Given the description of an element on the screen output the (x, y) to click on. 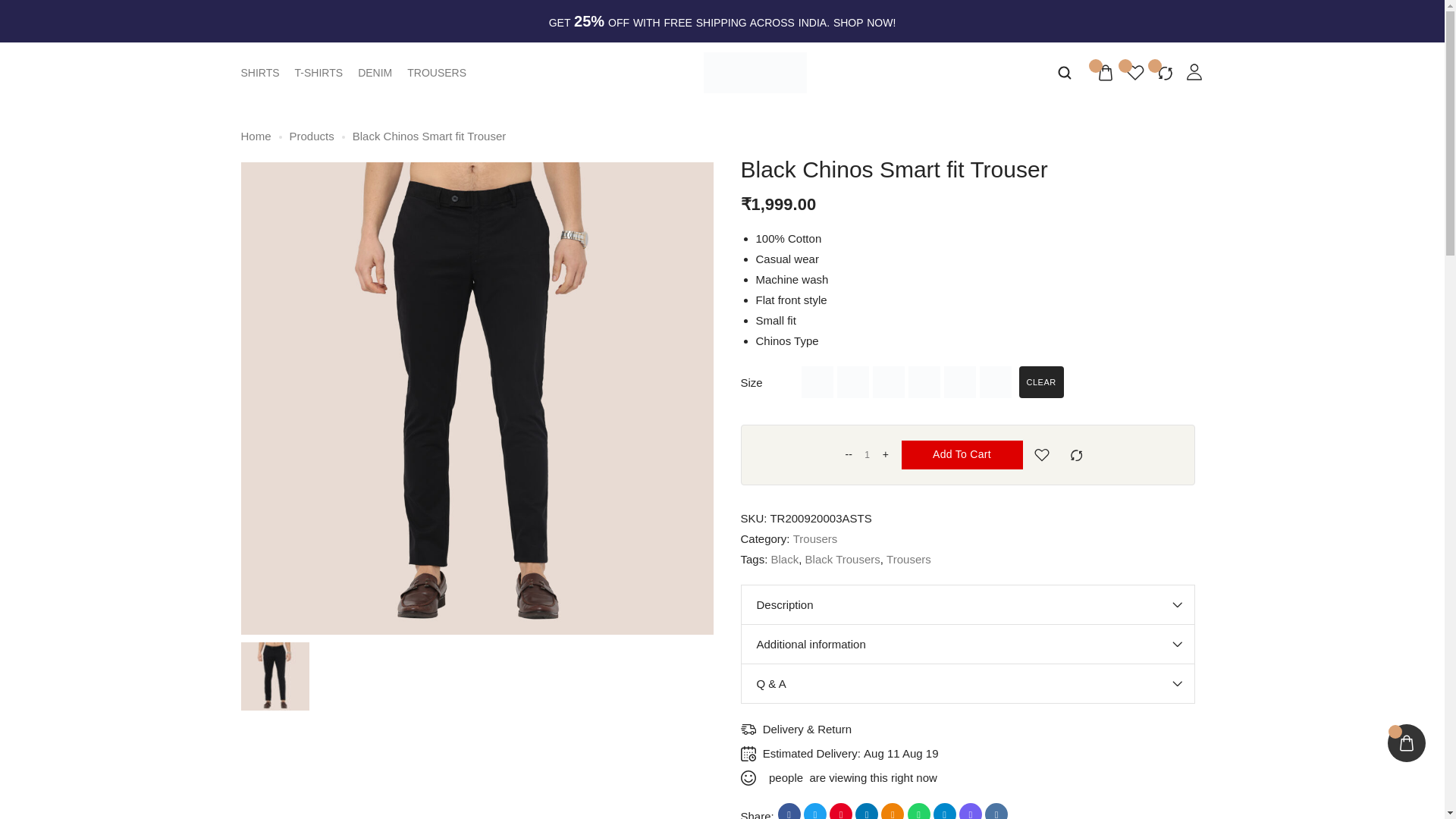
DENIM (374, 72)
SHOP NOW (862, 22)
SHIRTS (260, 72)
TROUSERS (436, 72)
Qty (866, 454)
CLEAR (1041, 382)
Add To Cart (961, 454)
Products (311, 136)
1 (866, 454)
Trousers (815, 538)
Home (255, 136)
T-SHIRTS (319, 72)
